Given the description of an element on the screen output the (x, y) to click on. 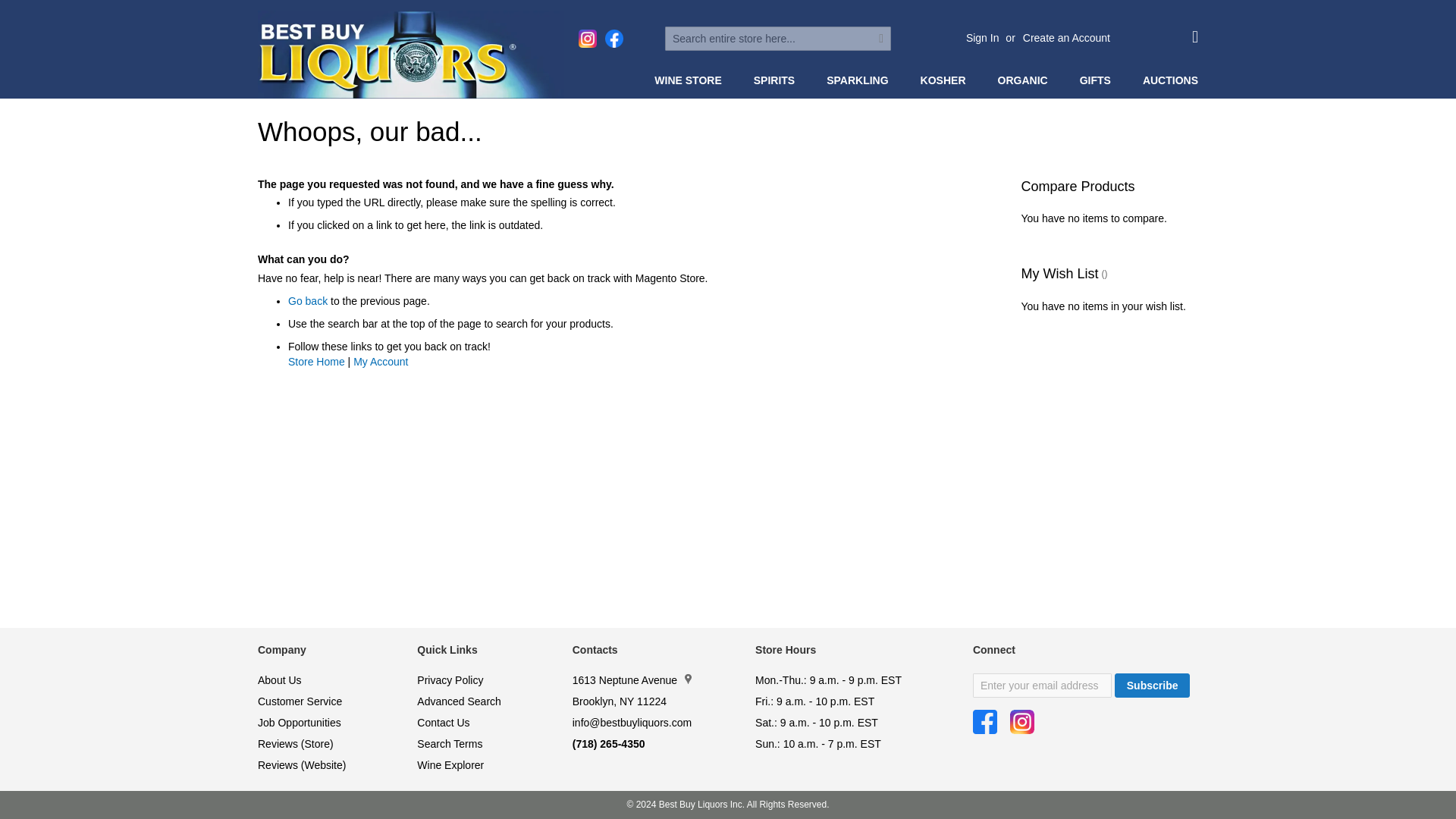
WINE STORE (690, 80)
Create an Account (1066, 38)
Best Buy Liquors (410, 54)
Best Buy Liquors on Facebook (614, 38)
Subscribe (1153, 685)
Best Buy Liquors on Instagram (1021, 721)
Best Buy Liquors on Facebook (984, 721)
Sign In (982, 38)
SPIRITS (776, 80)
Best Buy Liquors on Instagram (587, 38)
